Given the description of an element on the screen output the (x, y) to click on. 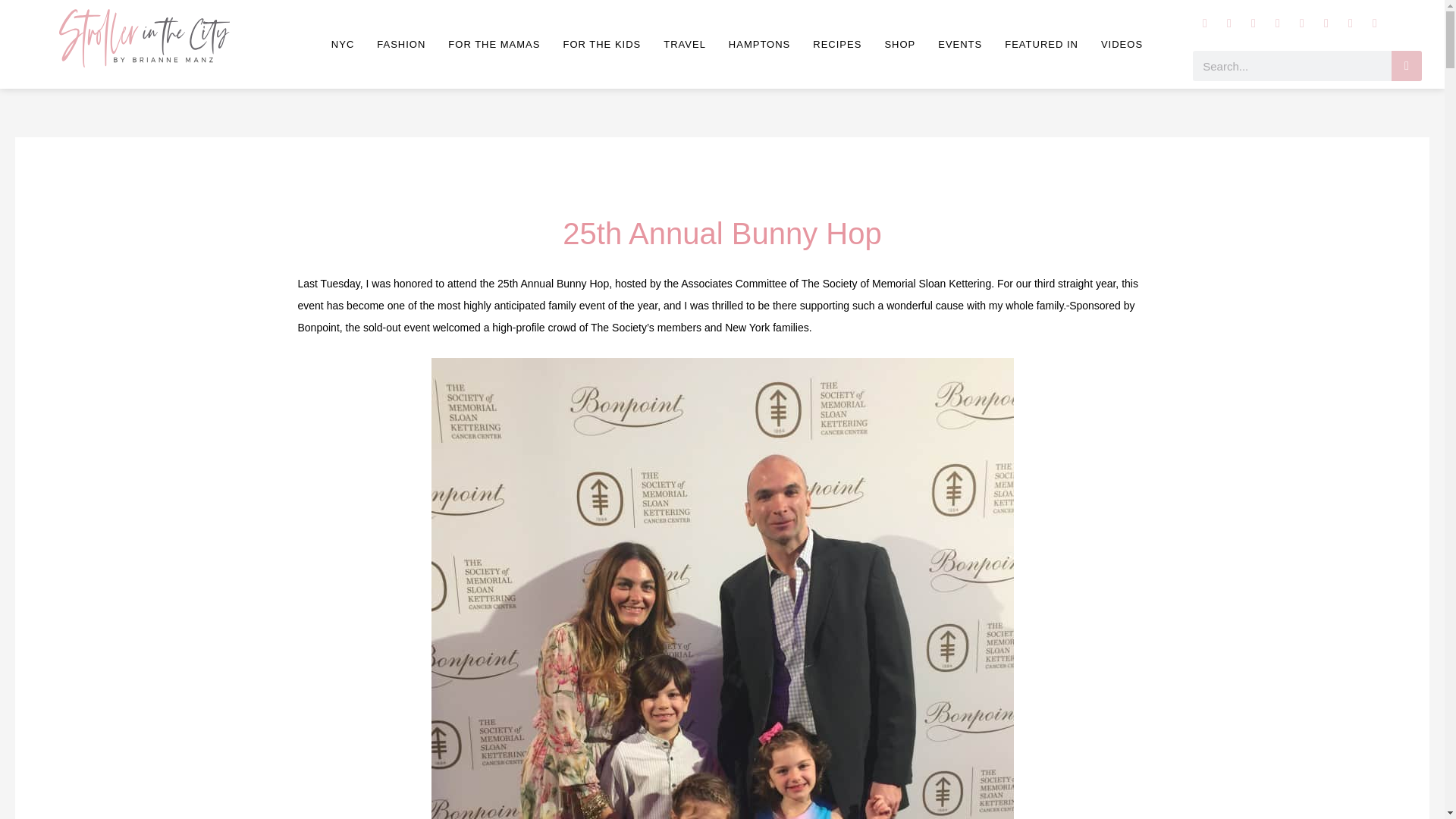
SHOP (899, 44)
Icon-tiktok (1326, 23)
Pinterest (1302, 23)
RECIPES (836, 44)
FOR THE MAMAS (494, 44)
FASHION (401, 44)
FEATURED IN (1041, 44)
Instagram (1204, 23)
FOR THE KIDS (601, 44)
